Given the description of an element on the screen output the (x, y) to click on. 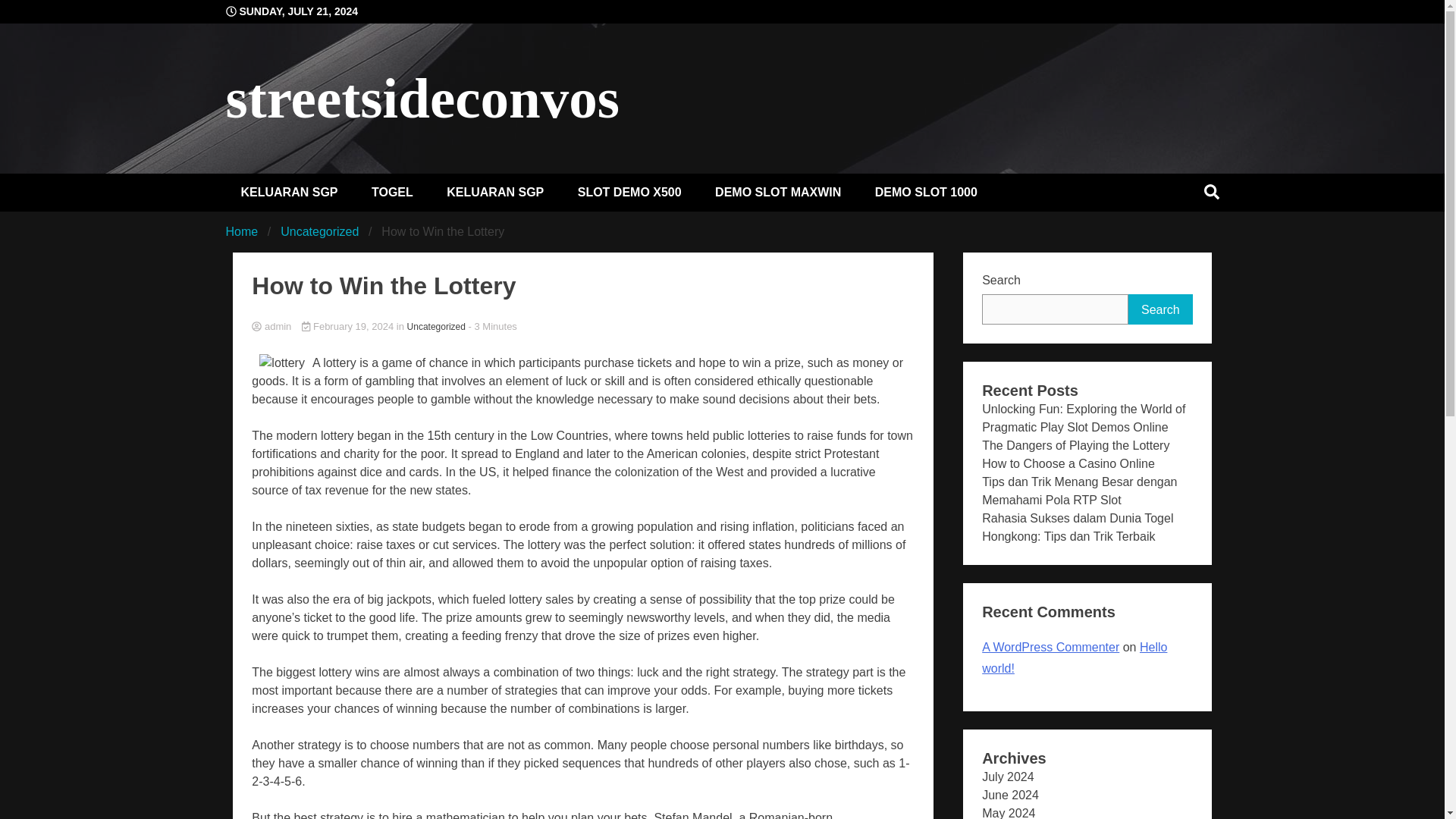
admin (582, 327)
A WordPress Commenter (1050, 645)
Search (1160, 309)
DEMO SLOT MAXWIN (778, 191)
SLOT DEMO X500 (629, 191)
KELUARAN SGP (289, 191)
June 2024 (1010, 794)
DEMO SLOT 1000 (926, 191)
Uncategorized (436, 326)
streetsideconvos (422, 97)
Home (242, 230)
Uncategorized (319, 230)
February 19, 2024 (348, 326)
Estimated Reading Time of Article (492, 326)
